Given the description of an element on the screen output the (x, y) to click on. 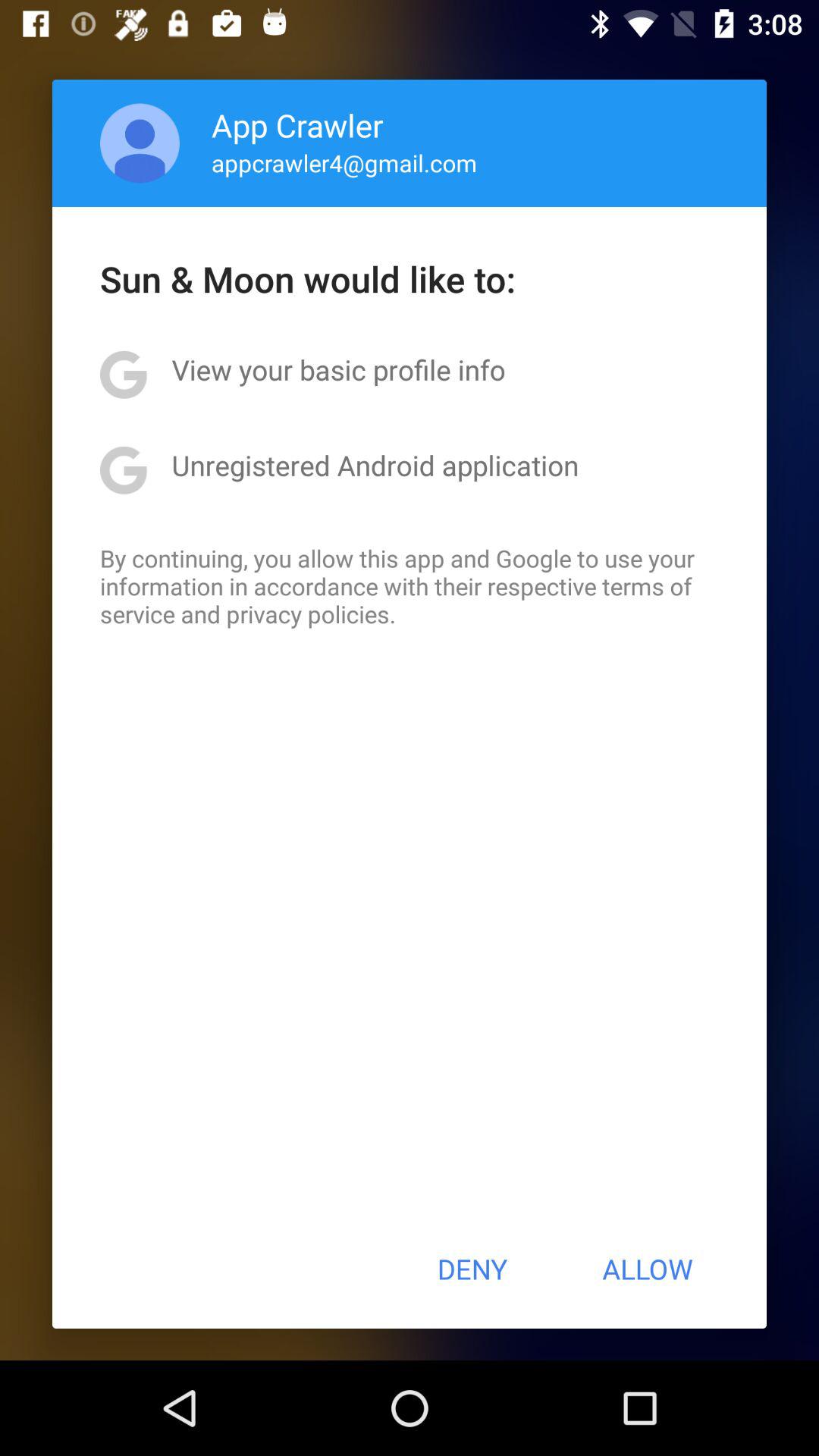
turn off the app crawler icon (297, 124)
